Given the description of an element on the screen output the (x, y) to click on. 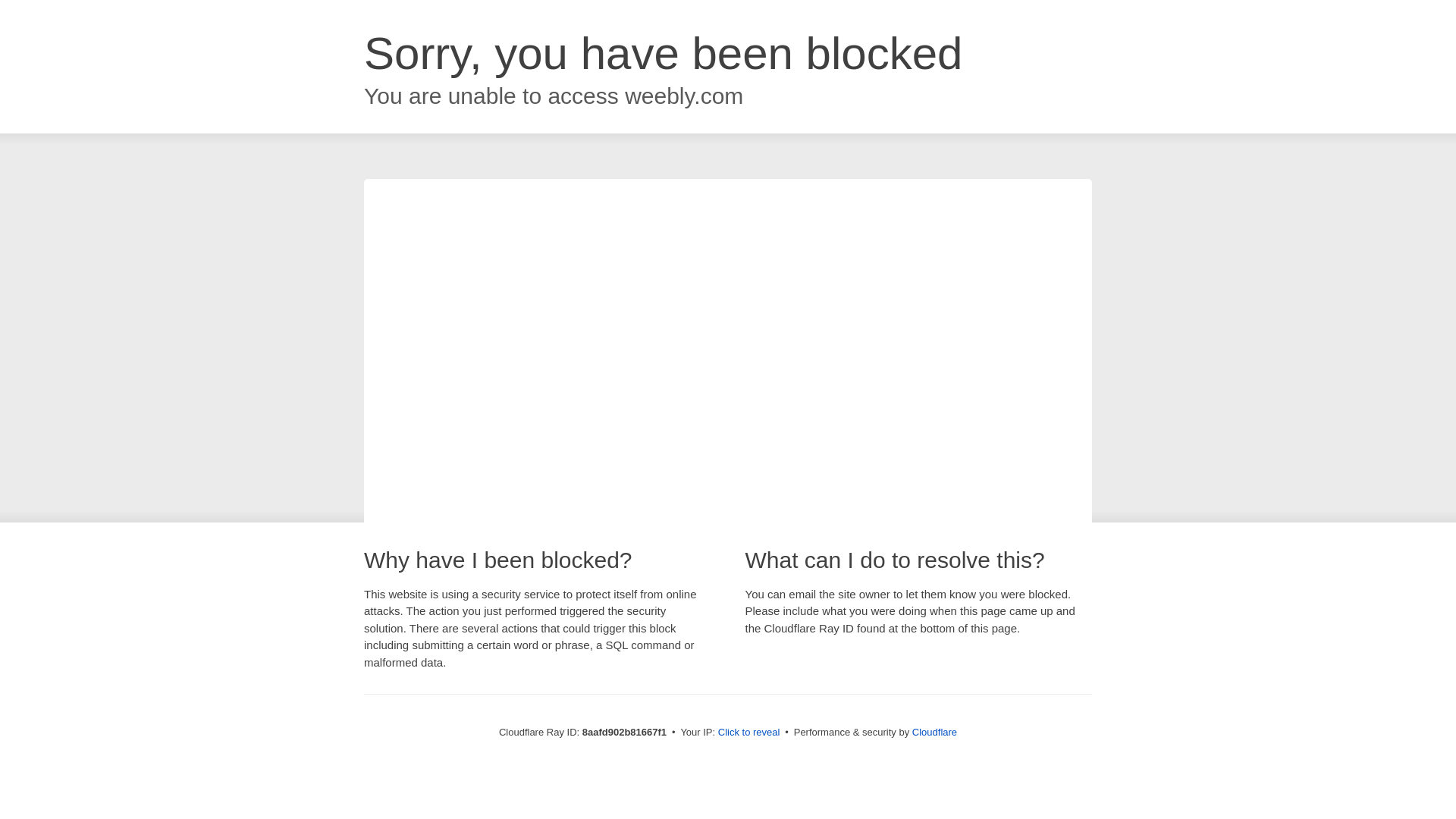
Cloudflare (934, 731)
Click to reveal (748, 732)
